Given the description of an element on the screen output the (x, y) to click on. 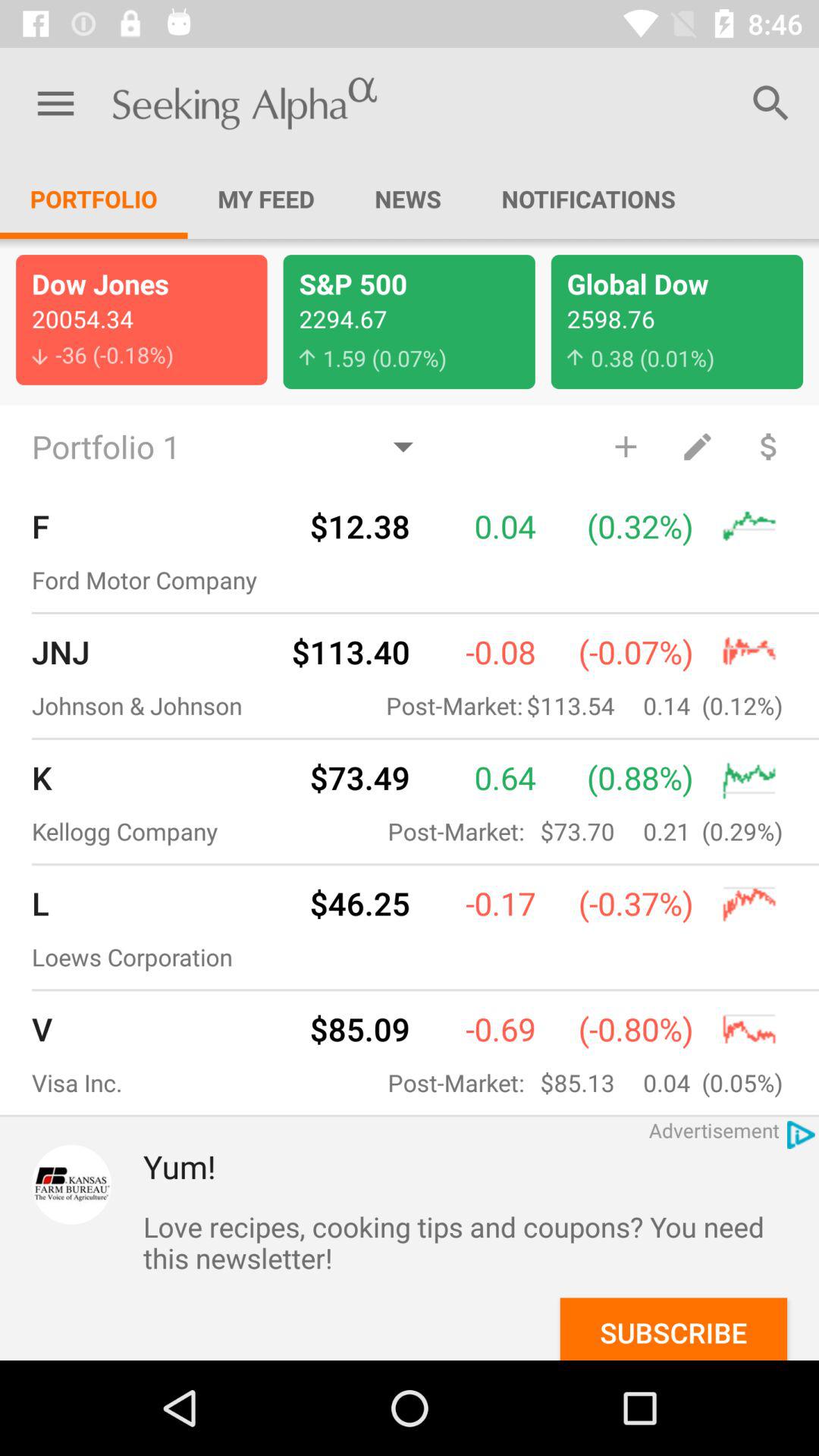
select the icon below visa inc. (71, 1184)
